Given the description of an element on the screen output the (x, y) to click on. 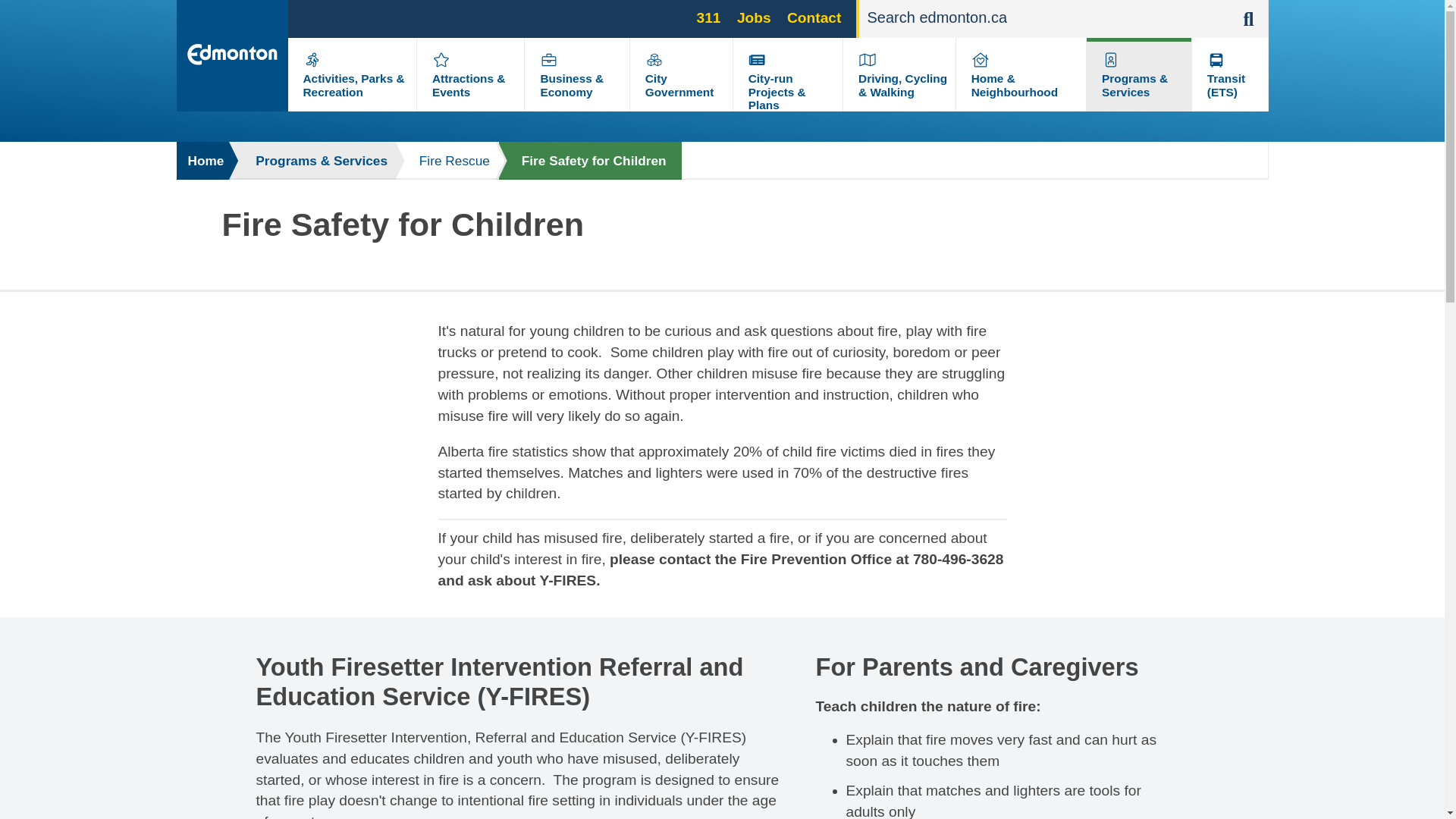
Home (203, 160)
City Government (679, 85)
311 (708, 17)
Fire Safety for Children (590, 160)
Jobs (753, 17)
Contact (814, 17)
Fire Rescue (446, 160)
